Given the description of an element on the screen output the (x, y) to click on. 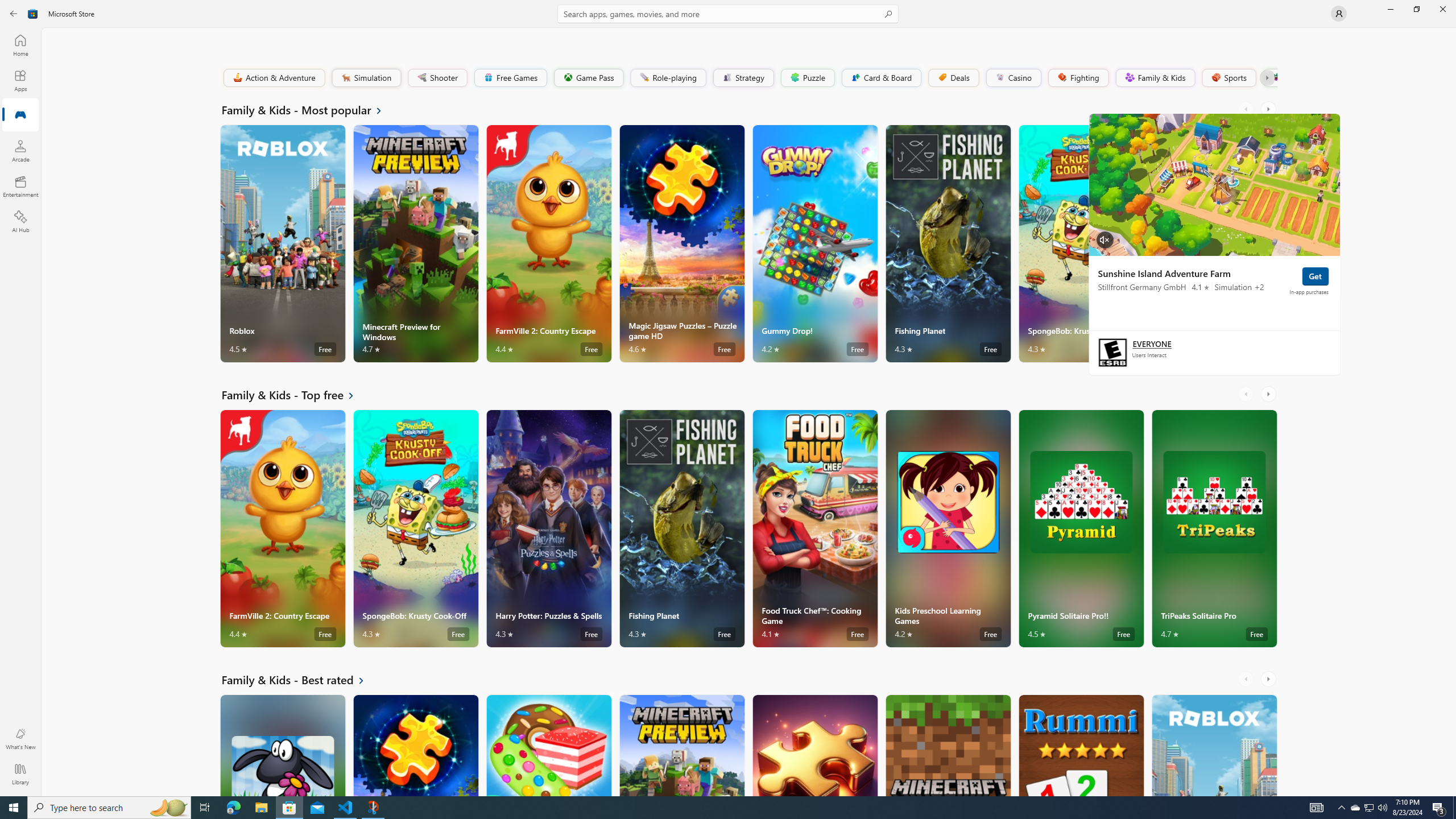
Restore Microsoft Store (1416, 9)
Fighting (1078, 77)
Simulation (365, 77)
Apps (20, 80)
Card & Board (880, 77)
Minimize Microsoft Store (1390, 9)
Search (727, 13)
Library (20, 773)
Arcade (20, 150)
User profile (1338, 13)
See all  Family & Kids - Top free (294, 394)
See all  Family & Kids - Most popular (308, 109)
